Given the description of an element on the screen output the (x, y) to click on. 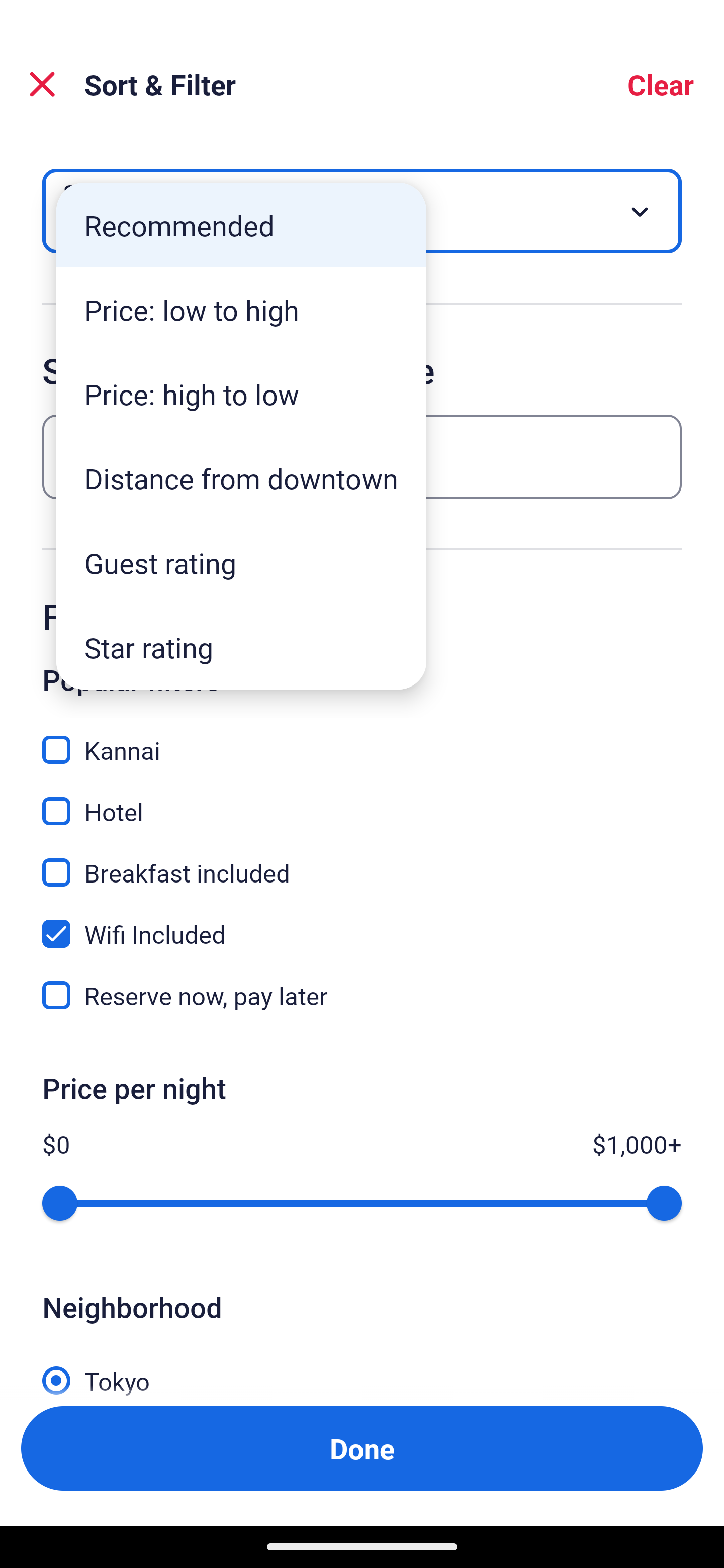
Price: low to high (241, 309)
Price: high to low (241, 393)
Distance from downtown (241, 477)
Guest rating (241, 562)
Star rating (241, 647)
